Given the description of an element on the screen output the (x, y) to click on. 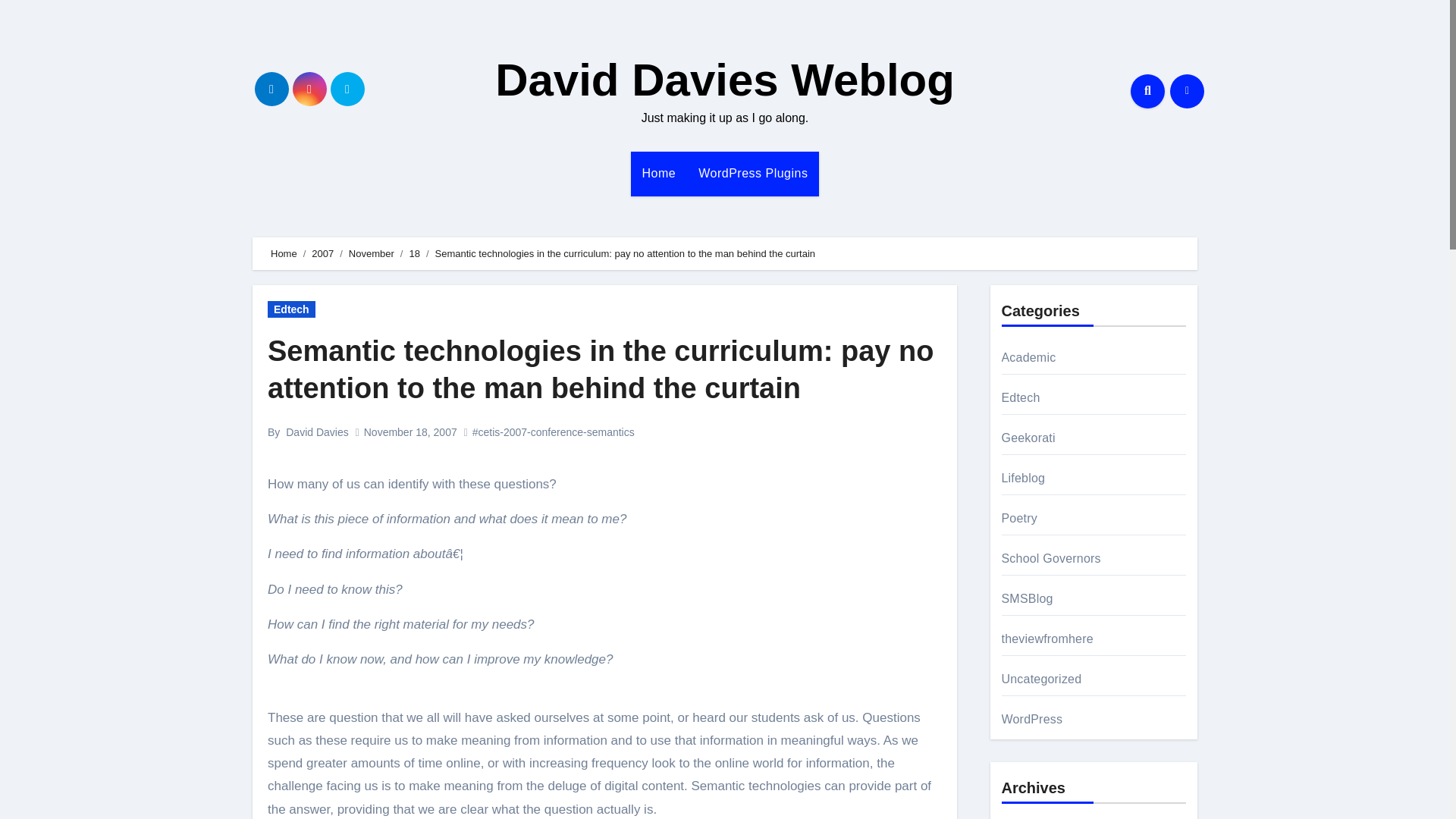
Home (283, 253)
18 (414, 253)
WordPress Plugins (752, 173)
Home (658, 173)
David Davies Weblog (725, 79)
Home (658, 173)
David Davies (316, 431)
Edtech (291, 309)
November (371, 253)
November 18, 2007 (410, 431)
2007 (322, 253)
